Given the description of an element on the screen output the (x, y) to click on. 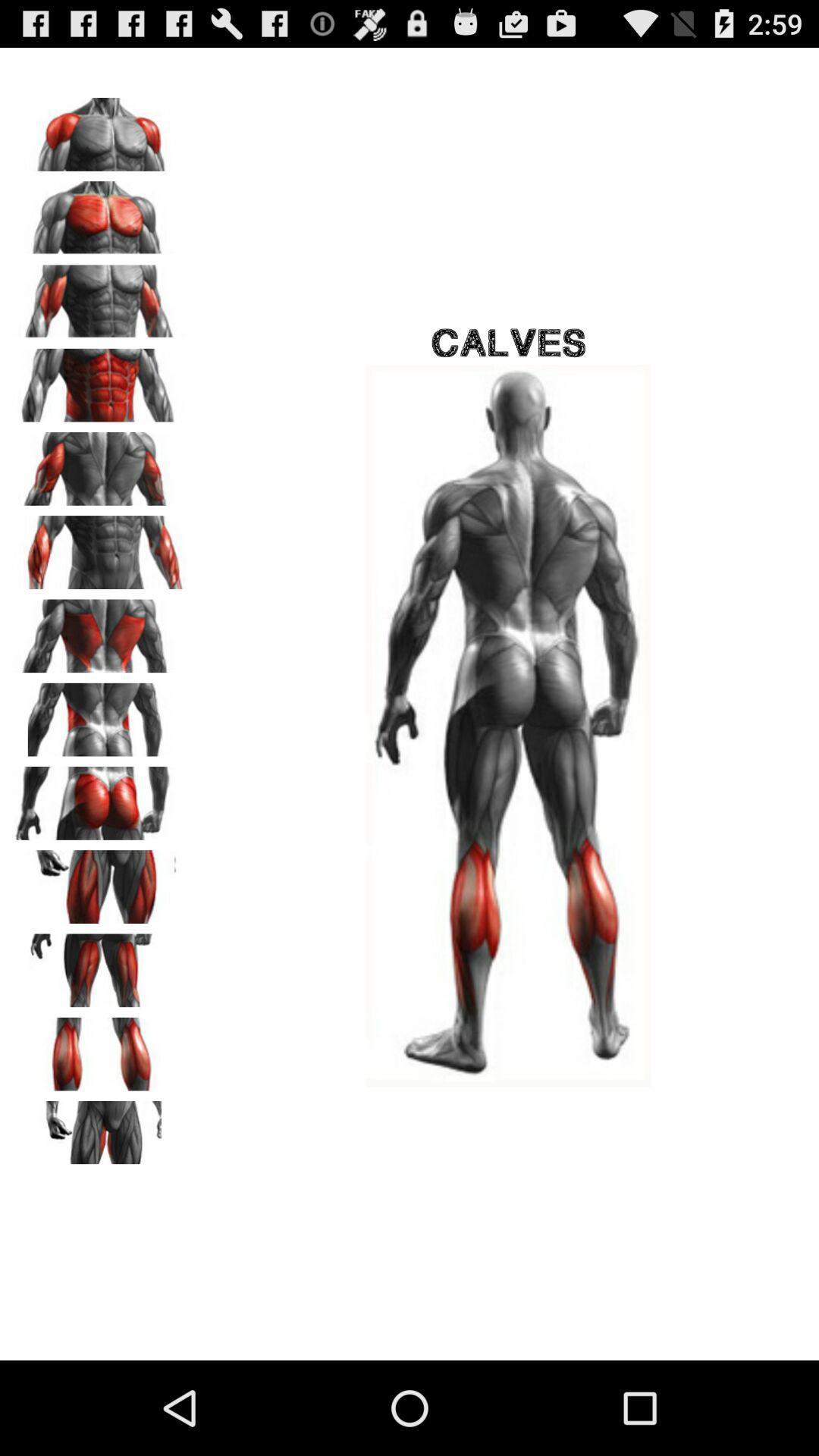
this imagw was chest (99, 129)
